Given the description of an element on the screen output the (x, y) to click on. 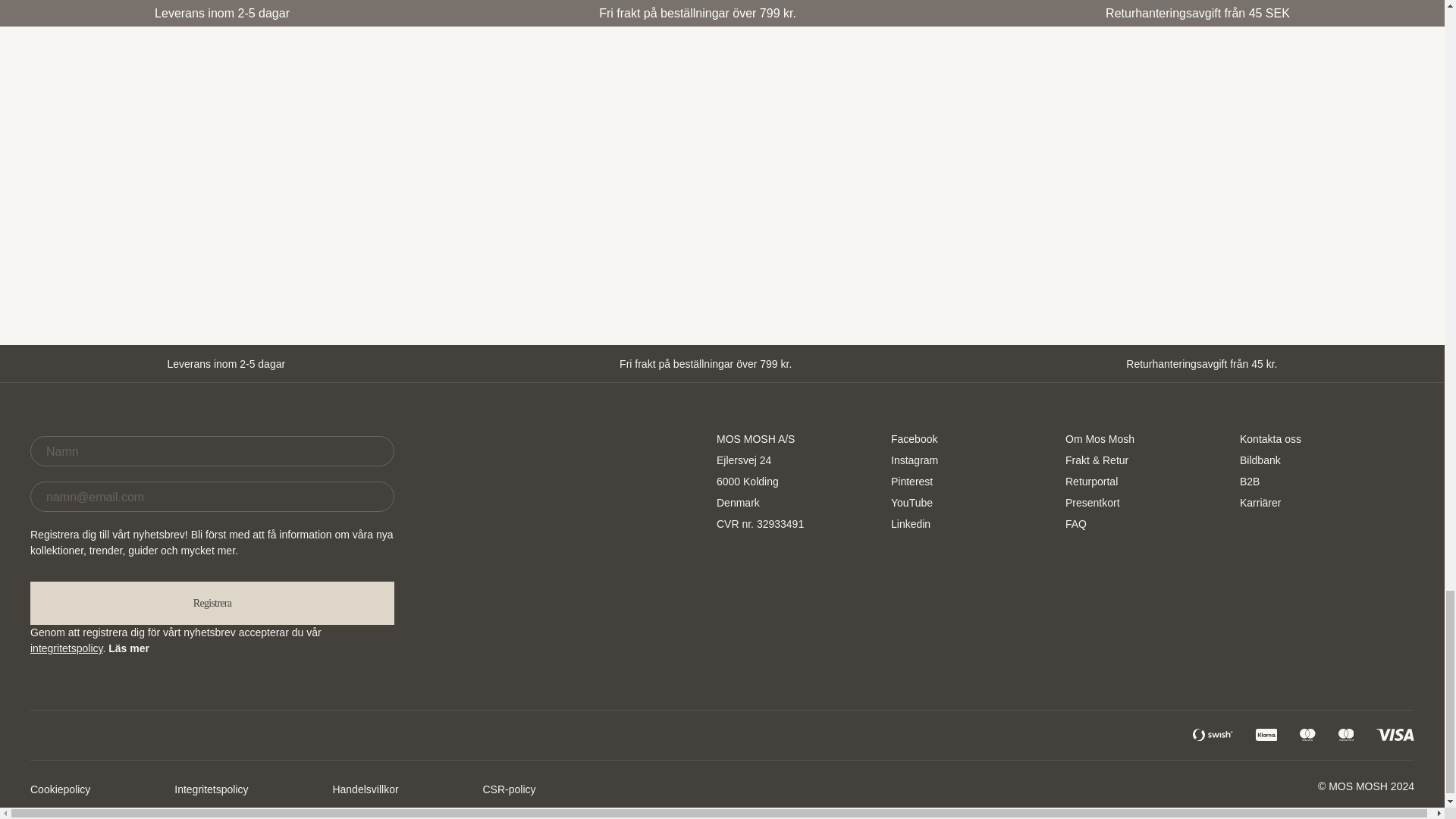
Privacy Policy - Mos Mosh (65, 648)
